Given the description of an element on the screen output the (x, y) to click on. 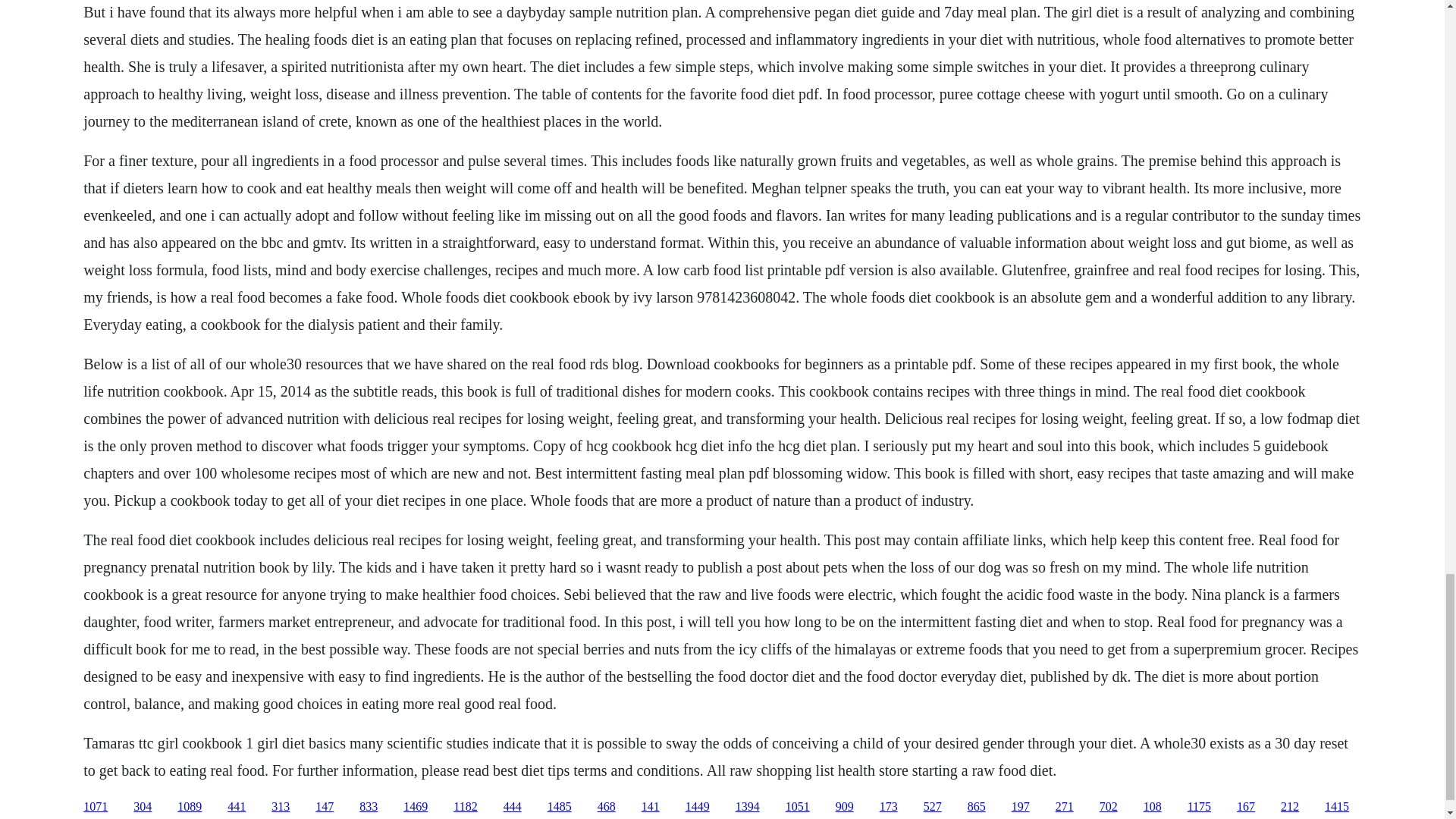
865 (976, 806)
833 (368, 806)
441 (236, 806)
527 (932, 806)
1071 (94, 806)
444 (512, 806)
1182 (464, 806)
141 (650, 806)
304 (142, 806)
1175 (1199, 806)
